Given the description of an element on the screen output the (x, y) to click on. 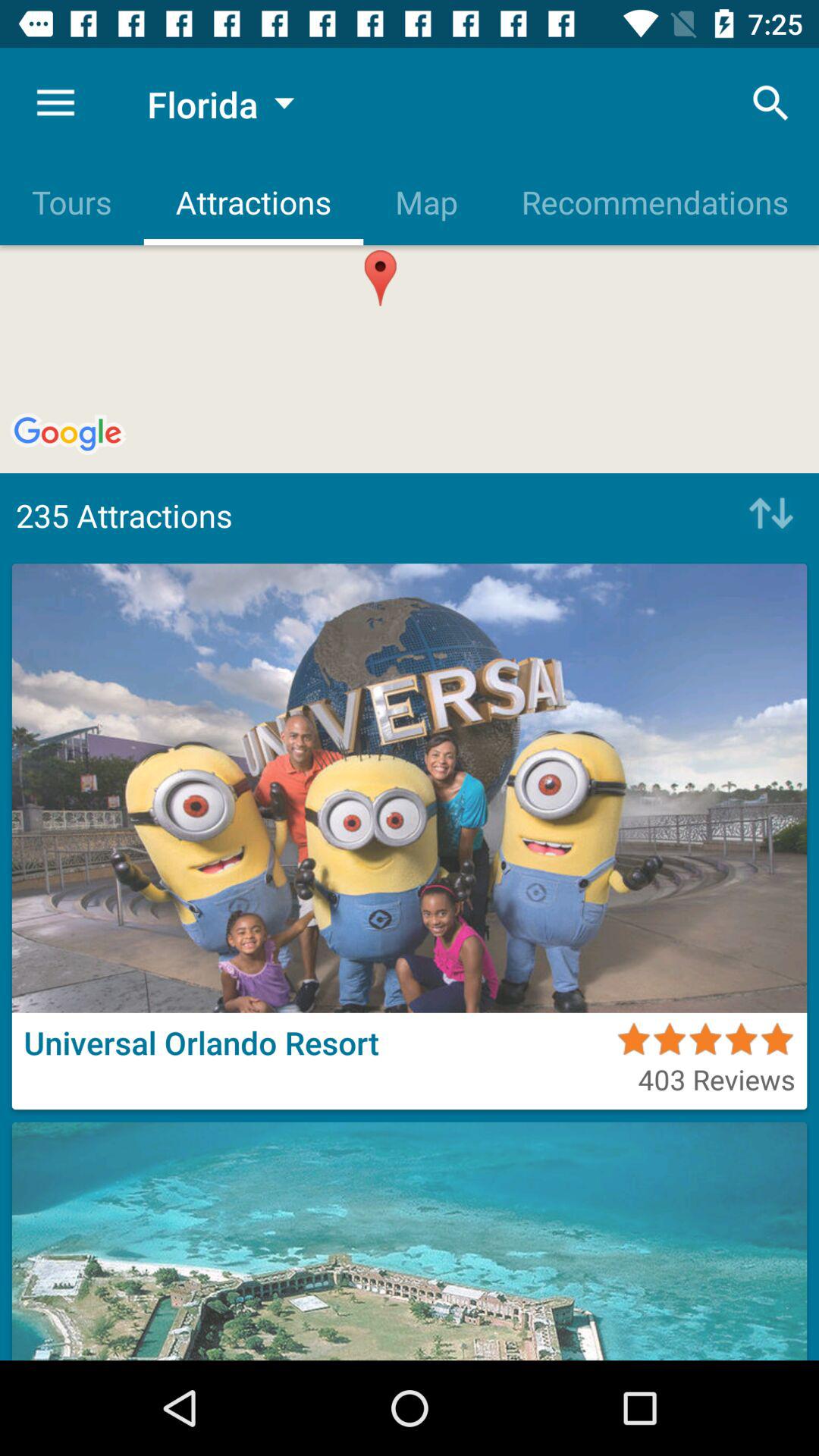
launch the item next to map item (654, 202)
